Given the description of an element on the screen output the (x, y) to click on. 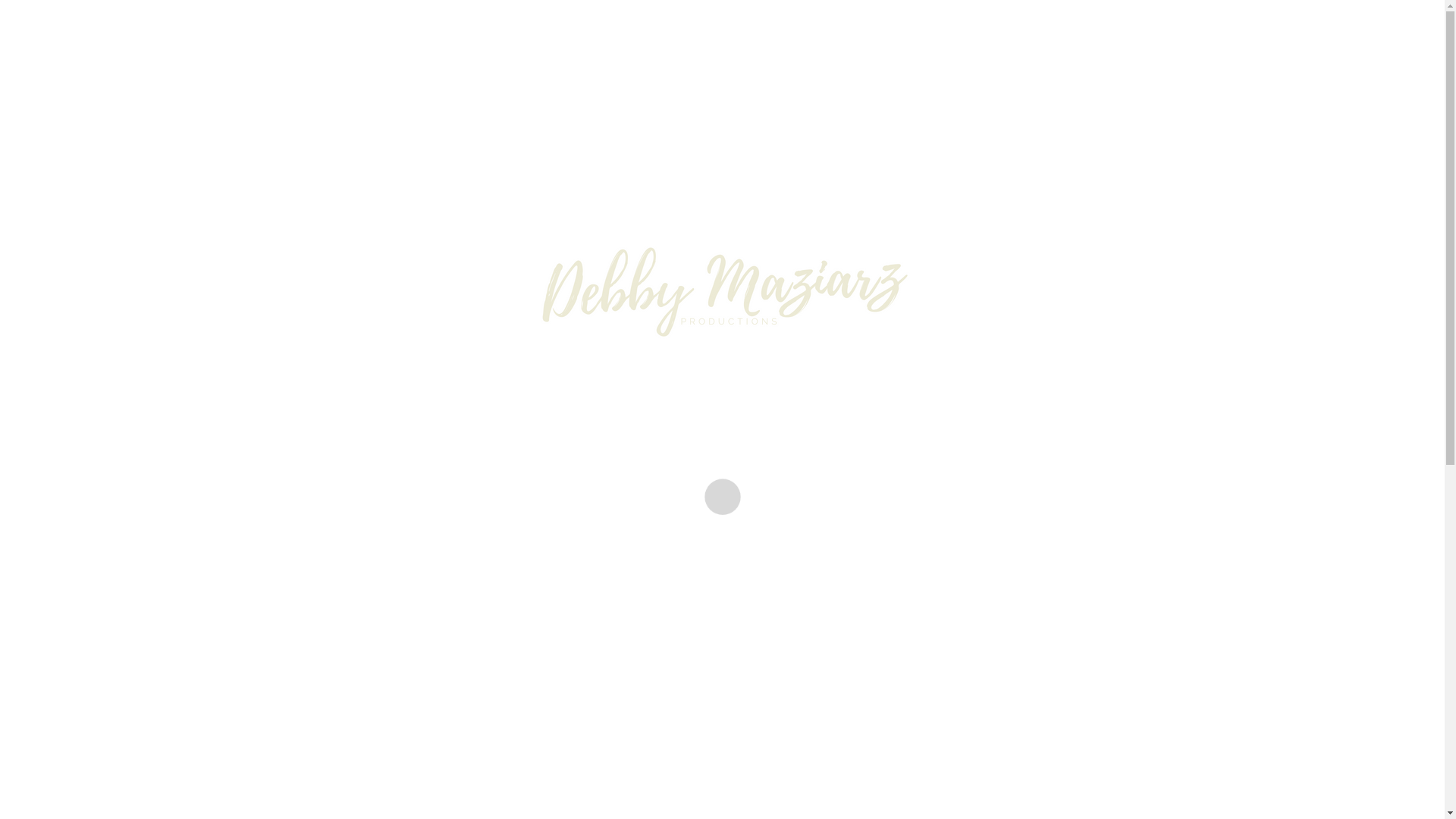
Workshops Element type: hover (705, 516)
Projects Element type: text (867, 248)
Services Element type: text (712, 248)
Debby Maziarz Productions Element type: hover (721, 114)
HOME Element type: text (1064, 343)
Mentoring Element type: hover (982, 516)
Resources Element type: text (790, 248)
Upcoming Workshops Element type: text (603, 248)
About Element type: text (499, 248)
Creative Business Planning Element type: hover (428, 516)
Contact Element type: text (939, 248)
